Given the description of an element on the screen output the (x, y) to click on. 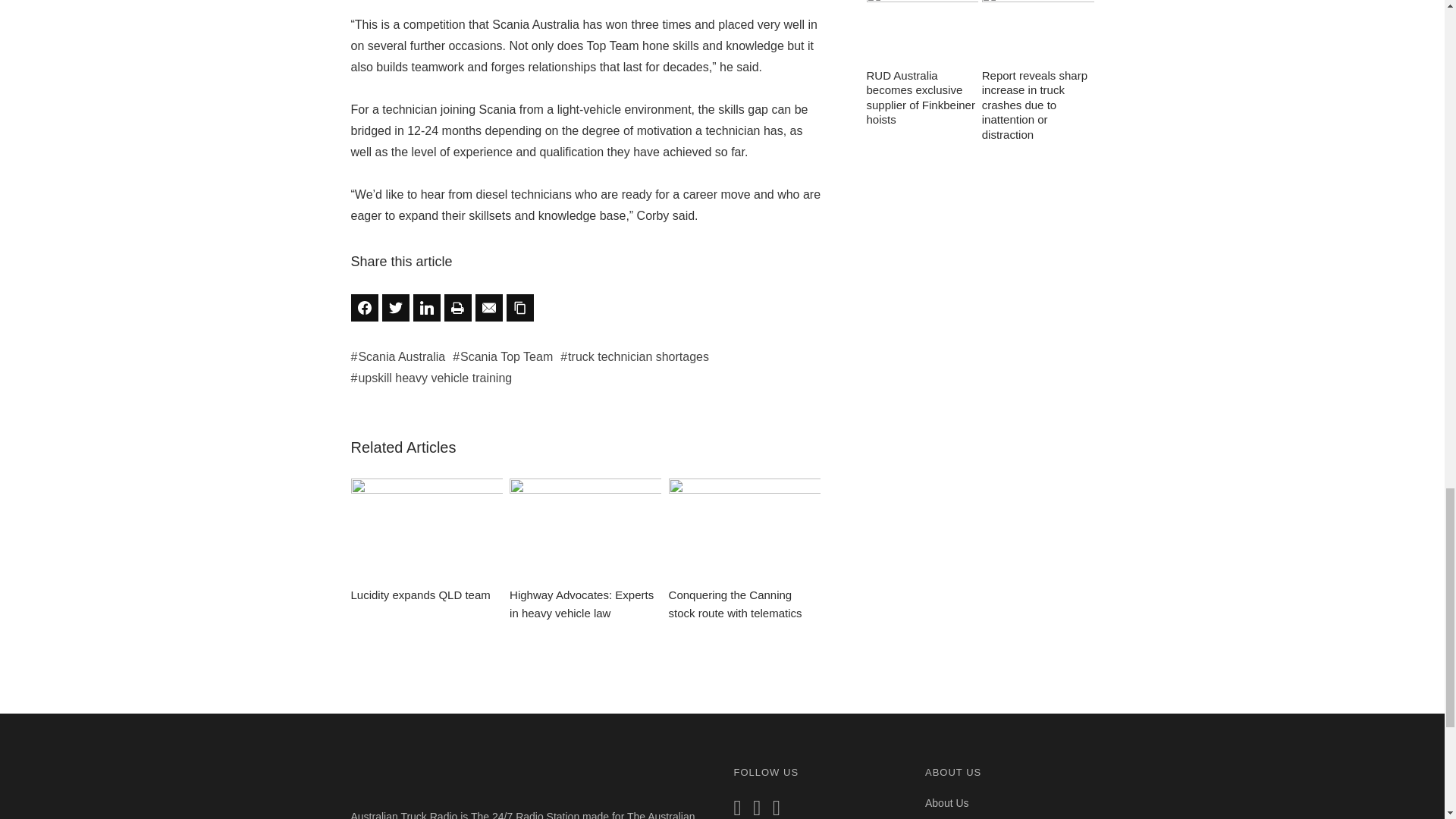
Scania Top Team (502, 356)
Conquering the Canning stock route with telematics (744, 550)
Scania Australia (397, 356)
Share on Print (457, 307)
Highway Advocates: Experts in heavy vehicle law (585, 550)
Share on Copy Link (520, 307)
Share on Twitter (395, 307)
Lucidity expands QLD team (426, 541)
Share on Facebook (363, 307)
Share on Email (488, 307)
